Given the description of an element on the screen output the (x, y) to click on. 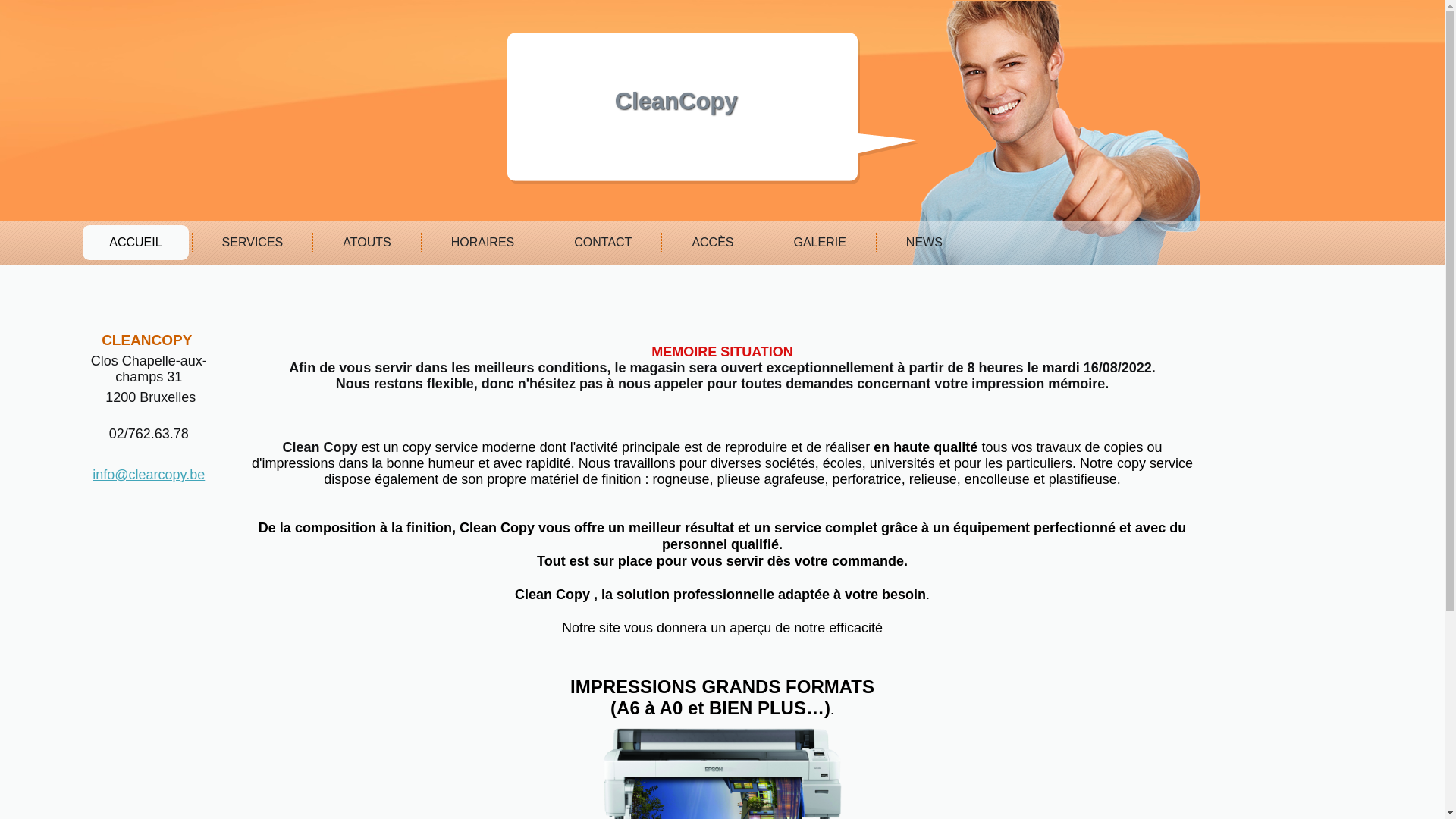
GALERIE Element type: text (819, 242)
NEWS Element type: text (924, 242)
HORAIRES Element type: text (482, 242)
info@clearcopy.be Element type: text (148, 474)
ACCUEIL Element type: text (135, 242)
SERVICES Element type: text (252, 242)
CONTACT Element type: text (602, 242)
ATOUTS Element type: text (366, 242)
